Given the description of an element on the screen output the (x, y) to click on. 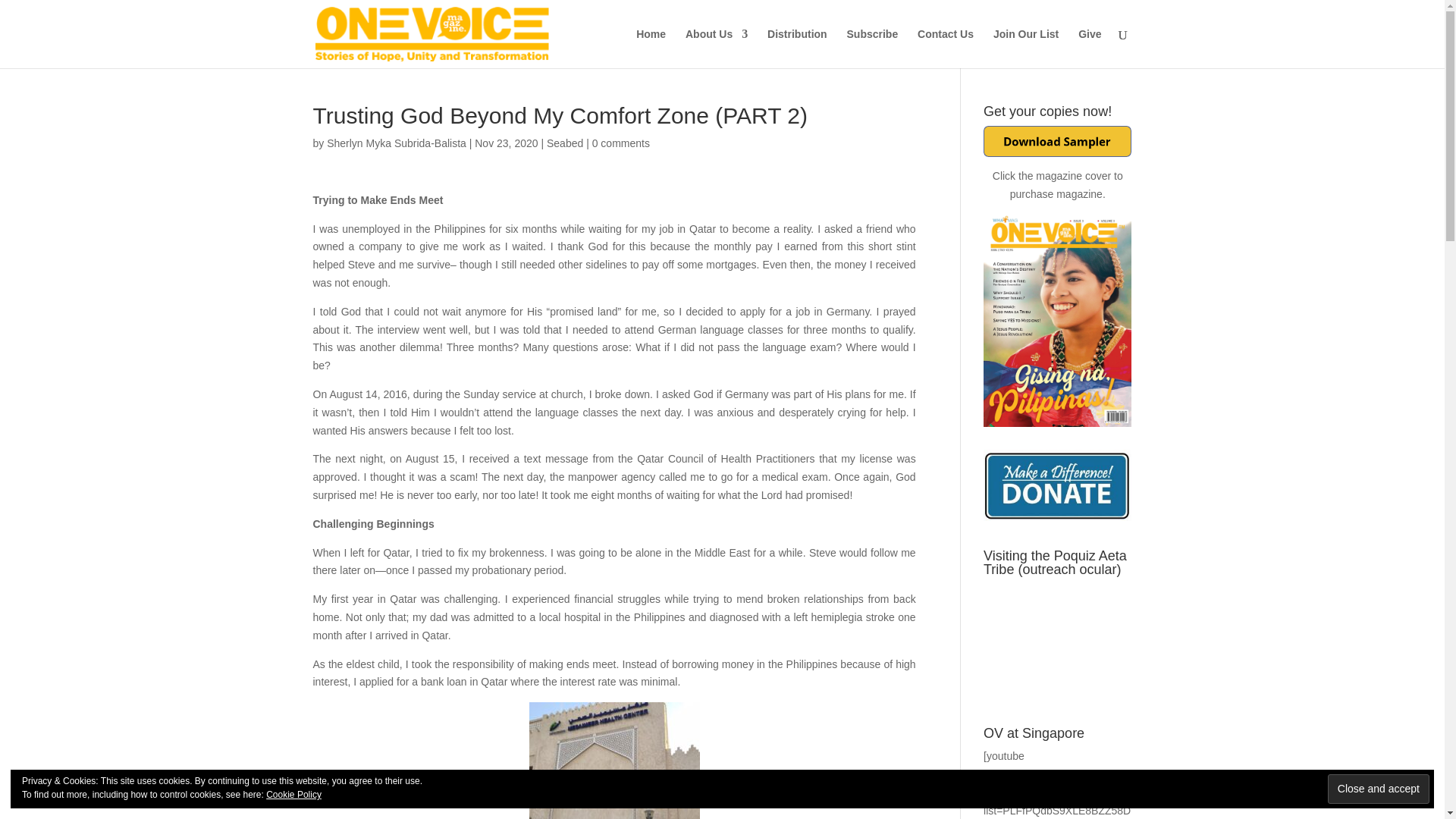
0 comments (620, 143)
Sherlyn Myka Subrida-Balista (395, 143)
Contact Us (945, 47)
Close and accept (1378, 788)
Seabed (565, 143)
Join Our List (1025, 47)
Distribution (797, 47)
Close and accept (1378, 788)
About Us (716, 47)
Subscribe (872, 47)
